Given the description of an element on the screen output the (x, y) to click on. 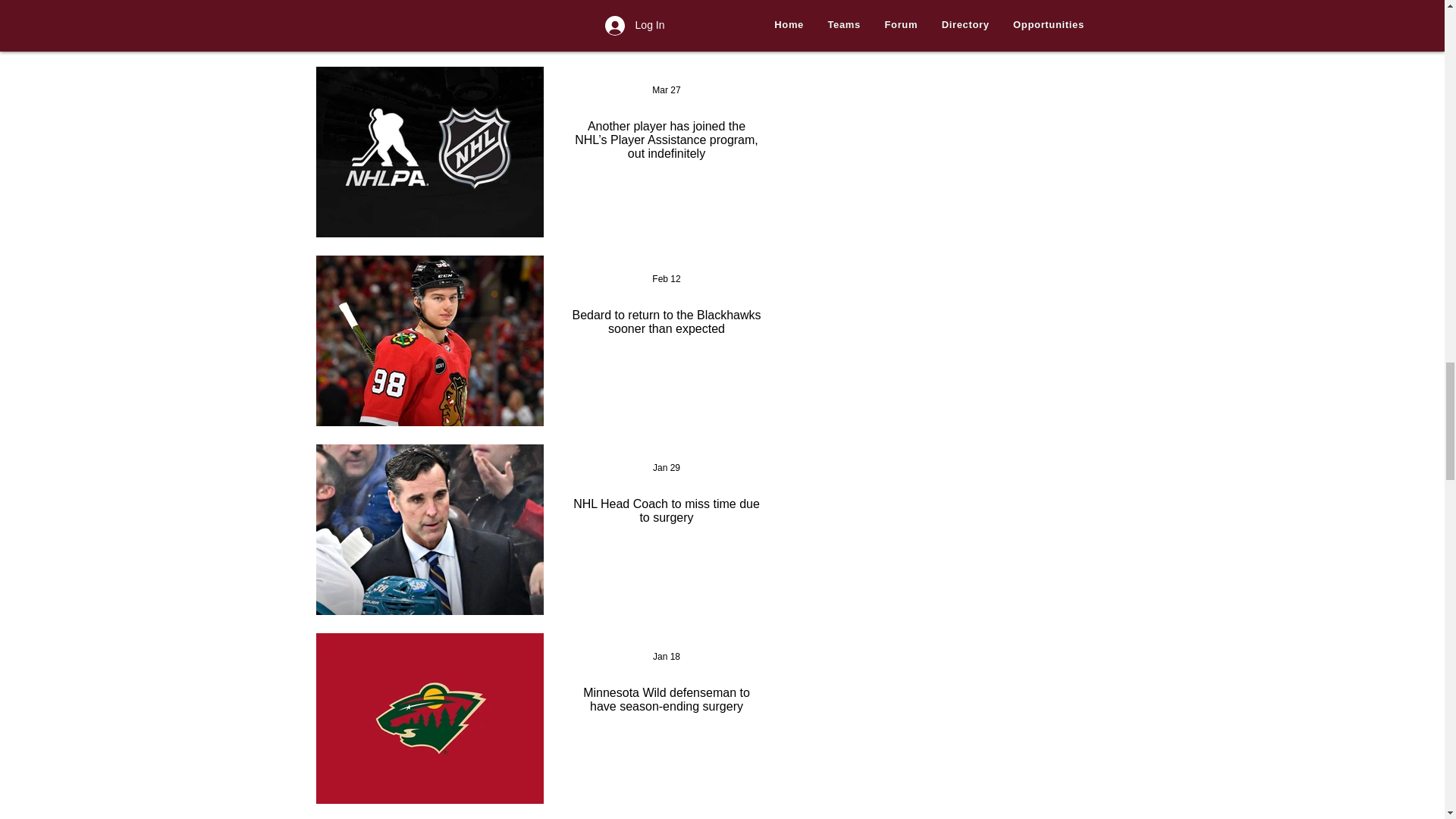
Jan 29 (665, 467)
Mar 27 (665, 90)
Jan 18 (665, 656)
Feb 12 (665, 278)
